Given the description of an element on the screen output the (x, y) to click on. 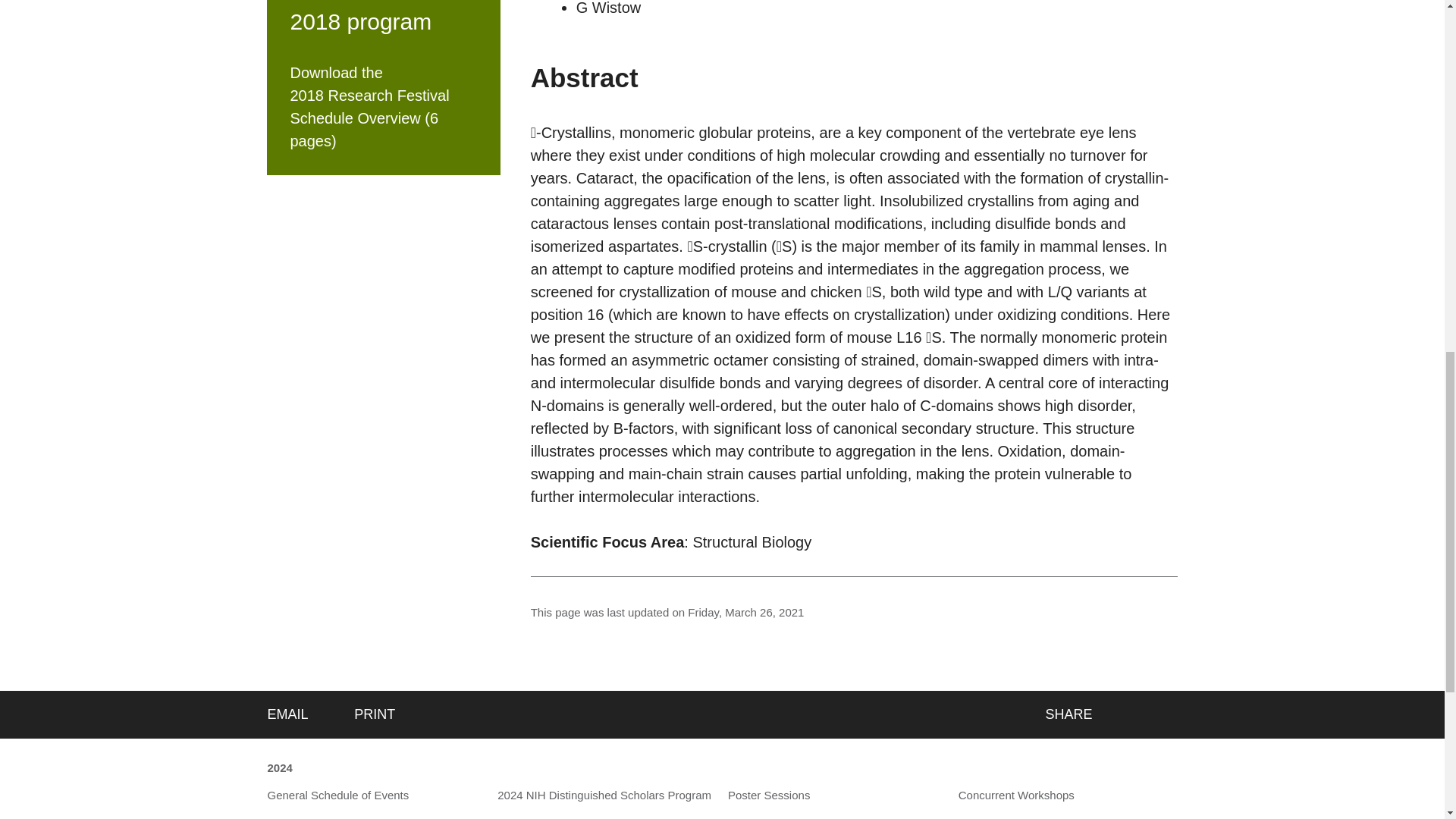
National Academy of Science Mini-Symposium  (606, 817)
2024 NIH Research Festival (279, 768)
2024 NIH Distinguished Scholars Program (604, 795)
Concurrent Workshops (1016, 795)
Special Wednesday Events (797, 817)
